Given the description of an element on the screen output the (x, y) to click on. 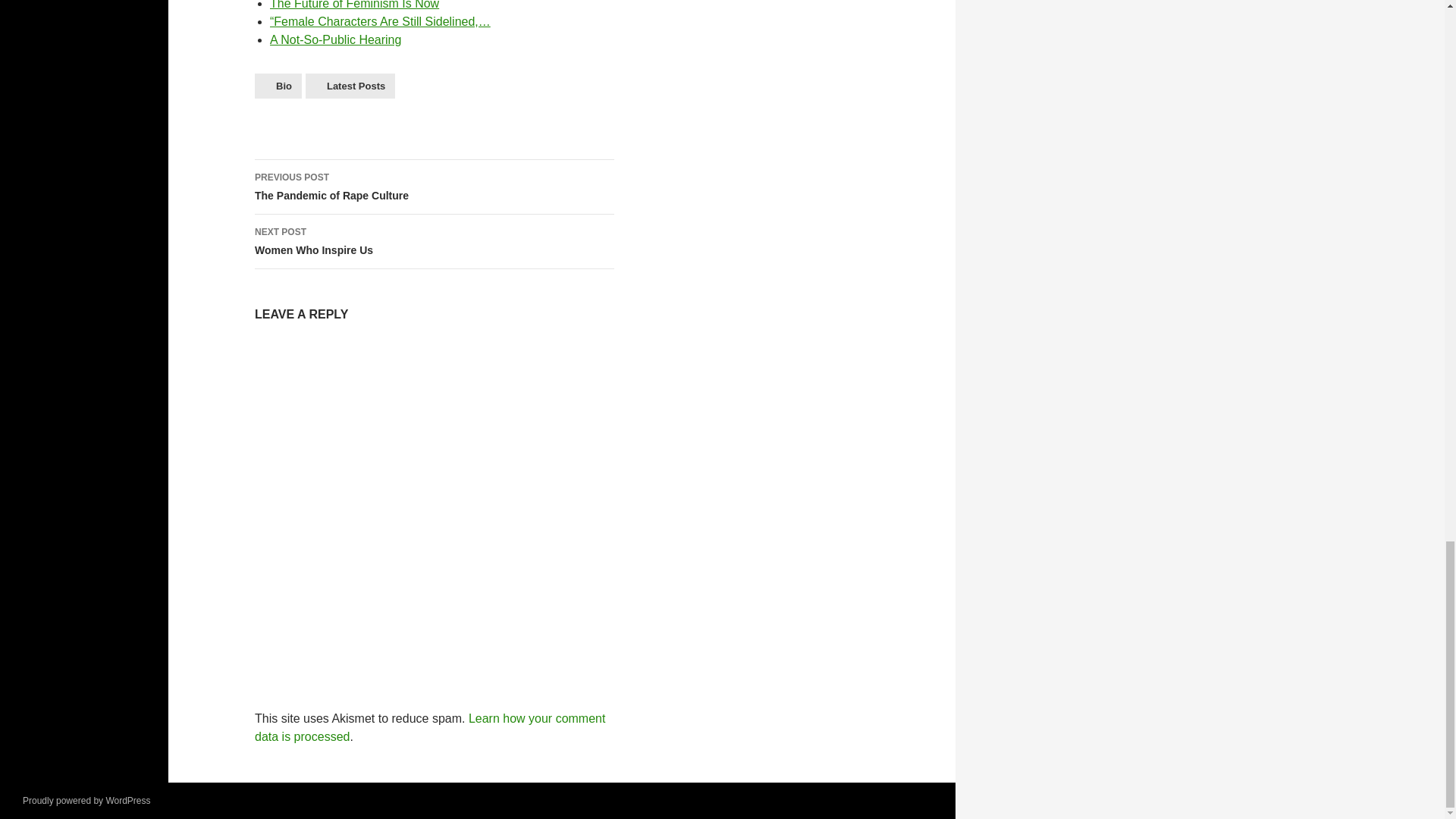
Latest Posts (349, 85)
The Future of Feminism Is Now (354, 4)
Comment Form (434, 505)
Bio (277, 85)
A Not-So-Public Hearing (335, 39)
